Given the description of an element on the screen output the (x, y) to click on. 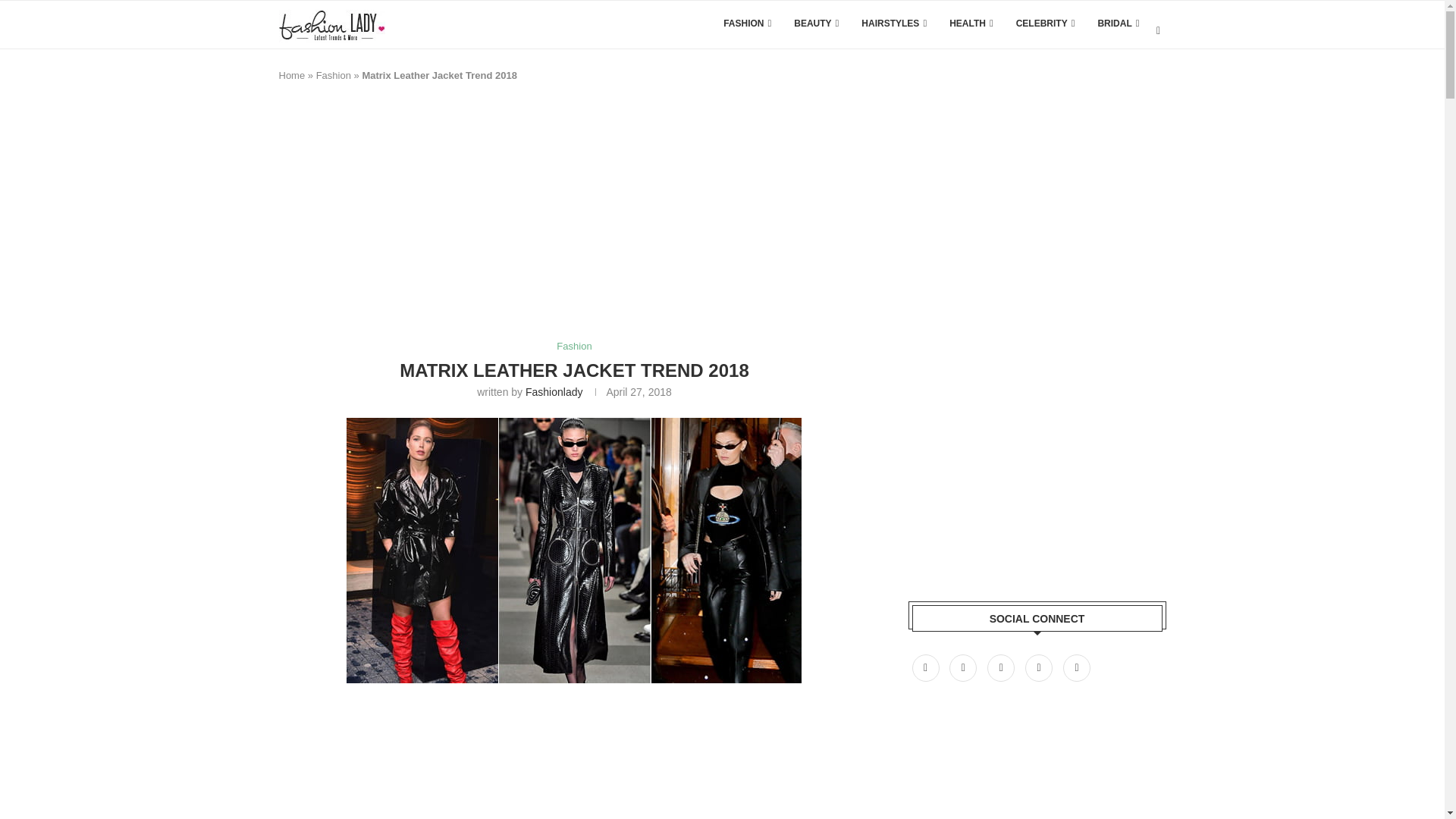
Fashionlady (554, 391)
HAIRSTYLES (893, 22)
HEALTH (970, 22)
Fashion (332, 75)
Matrix Leather Jacket Trend (574, 550)
BEAUTY (815, 22)
BRIDAL (1117, 22)
Fashion (573, 346)
FASHION (747, 22)
CELEBRITY (1045, 22)
Home (292, 75)
